Given the description of an element on the screen output the (x, y) to click on. 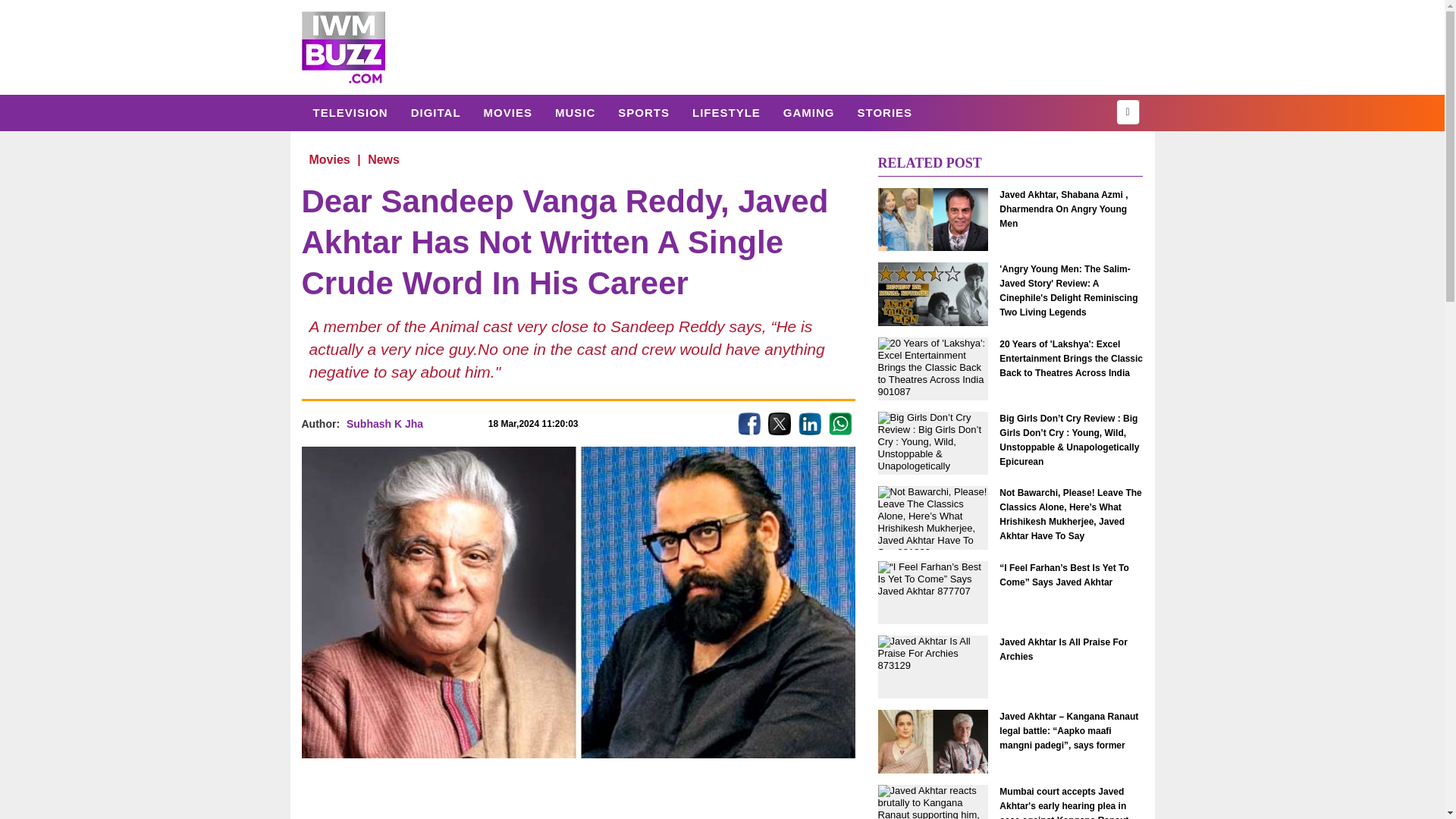
TELEVISION (349, 112)
Lifestyle (726, 112)
Movies (328, 159)
Digital (434, 112)
Movies (507, 112)
Television (349, 112)
Web Stories (884, 112)
